Given the description of an element on the screen output the (x, y) to click on. 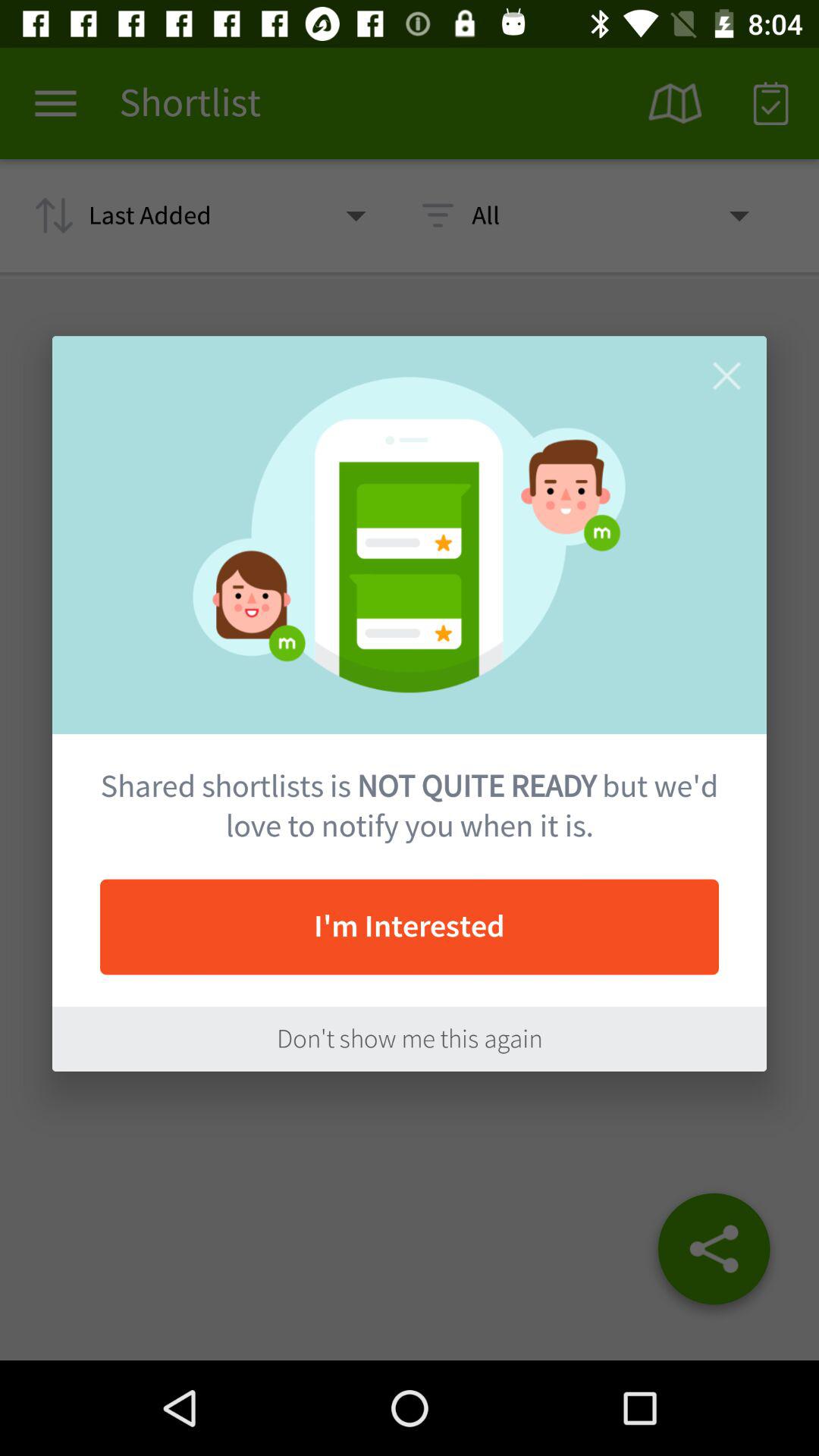
open the item at the bottom (409, 1038)
